Given the description of an element on the screen output the (x, y) to click on. 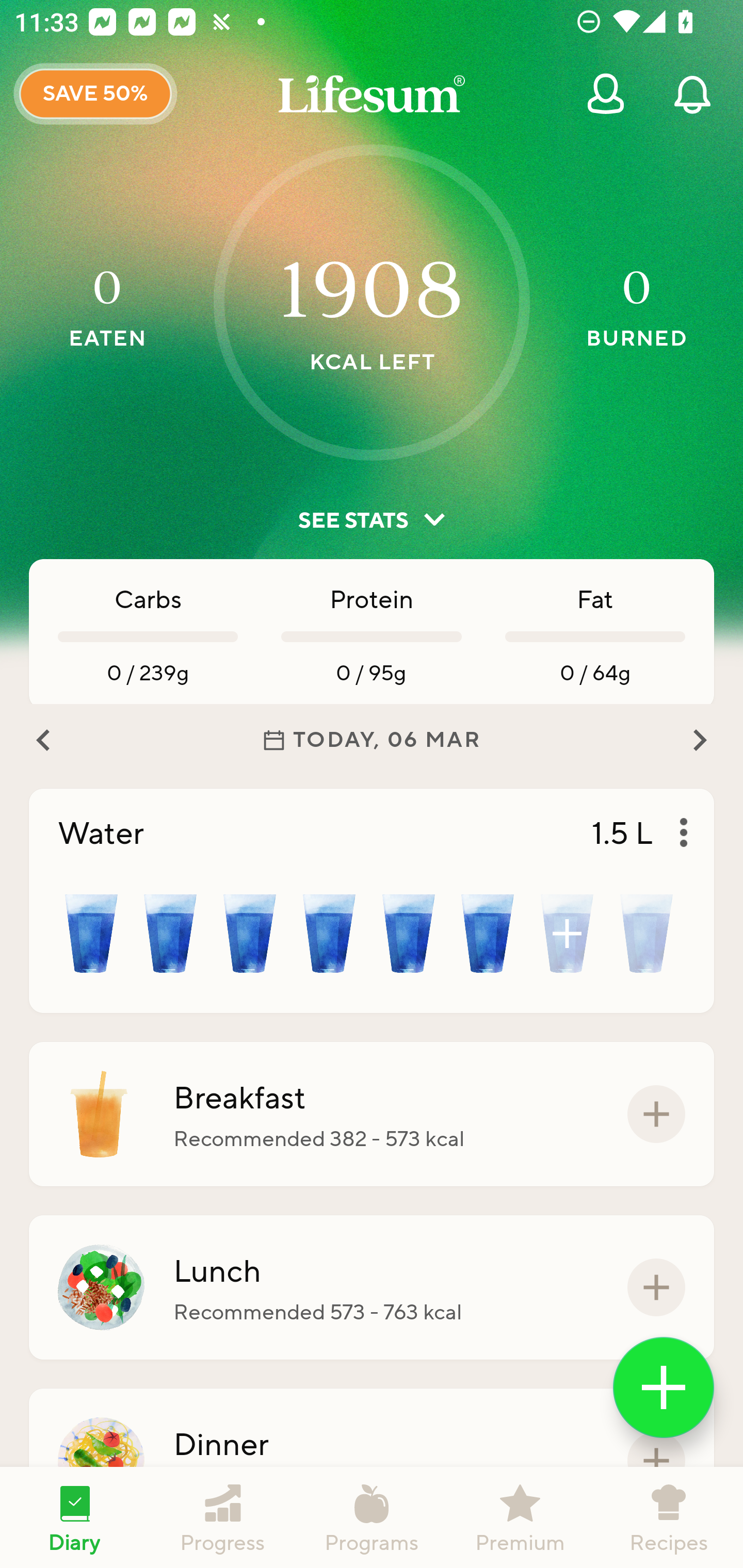
SEE STATS (371, 519)
TODAY, 06 MAR (371, 739)
Breakfast Recommended 382 - 573 kcal (371, 1113)
Lunch Recommended 573 - 763 kcal (371, 1287)
Dinner Recommended 573 - 763 kcal (371, 1461)
Progress (222, 1517)
Programs (371, 1517)
Premium (519, 1517)
Recipes (668, 1517)
